Given the description of an element on the screen output the (x, y) to click on. 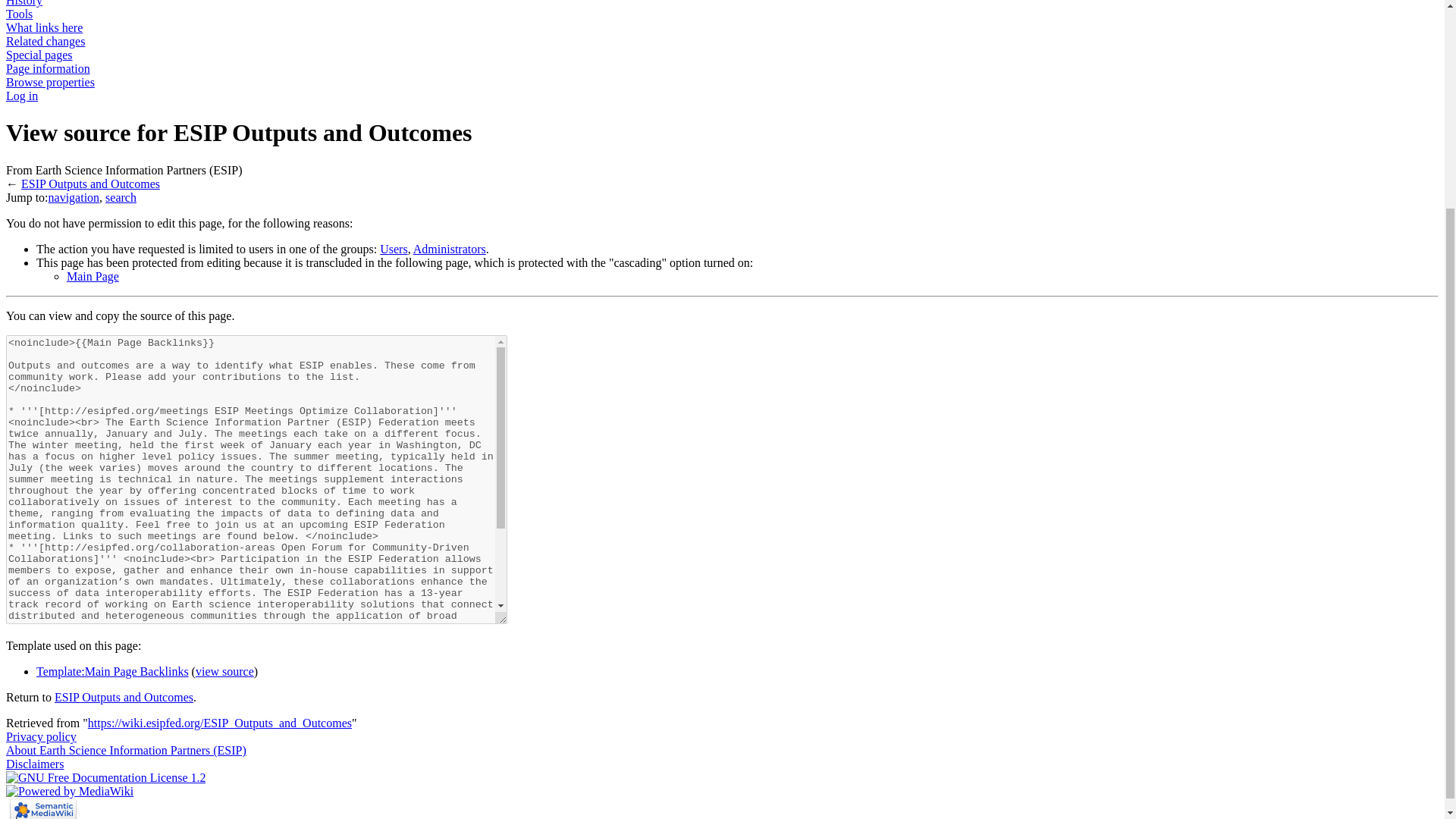
History (23, 3)
Privacy policy (41, 736)
What links here (43, 27)
Special pages (38, 54)
Template:Main Page Backlinks (112, 671)
Browse properties (49, 82)
ESIP Outputs and Outcomes (90, 183)
Administrators (449, 248)
ESIP Outputs and Outcomes (90, 183)
view source (224, 671)
